Given the description of an element on the screen output the (x, y) to click on. 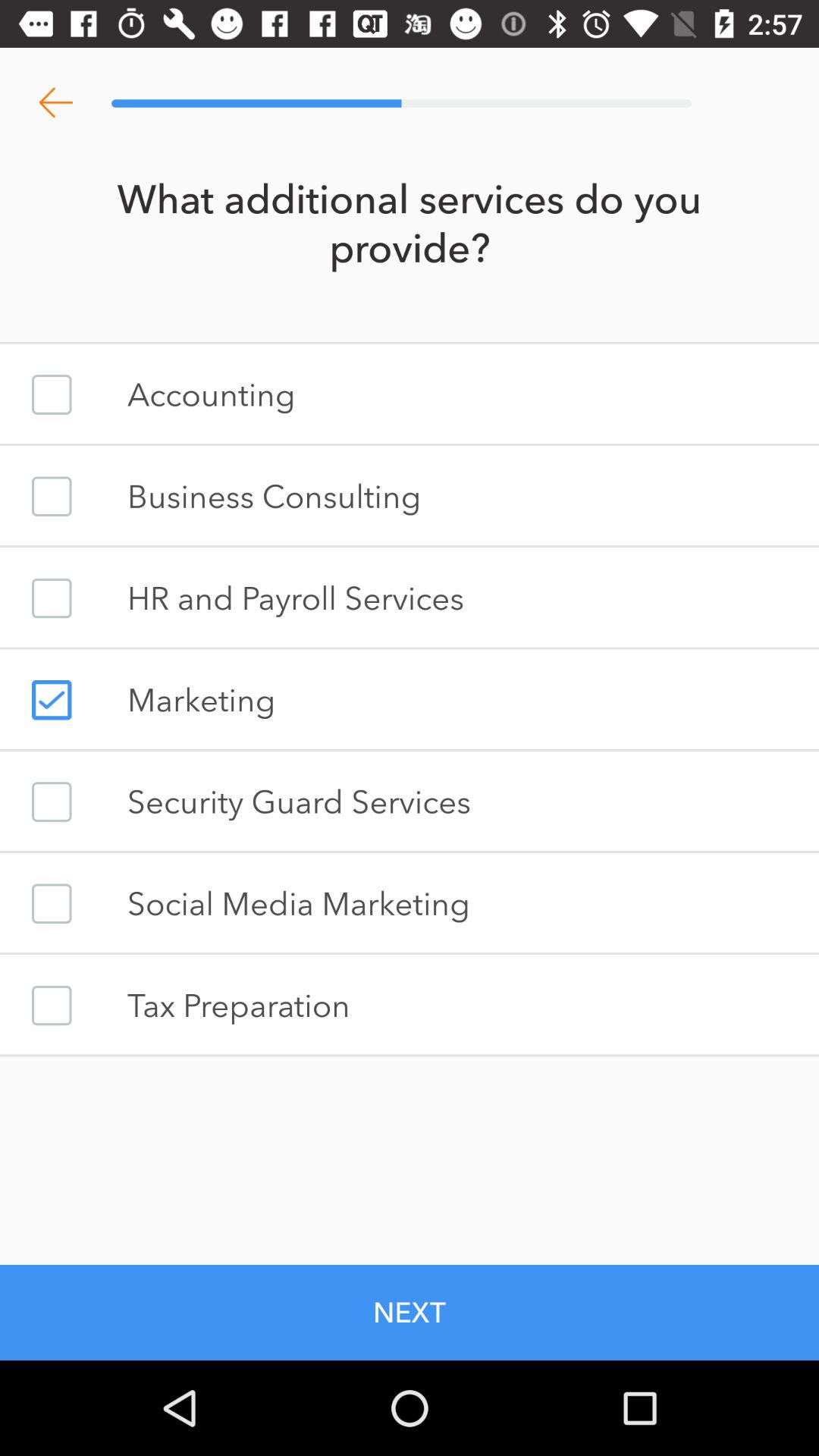
turn off the next (409, 1312)
